Given the description of an element on the screen output the (x, y) to click on. 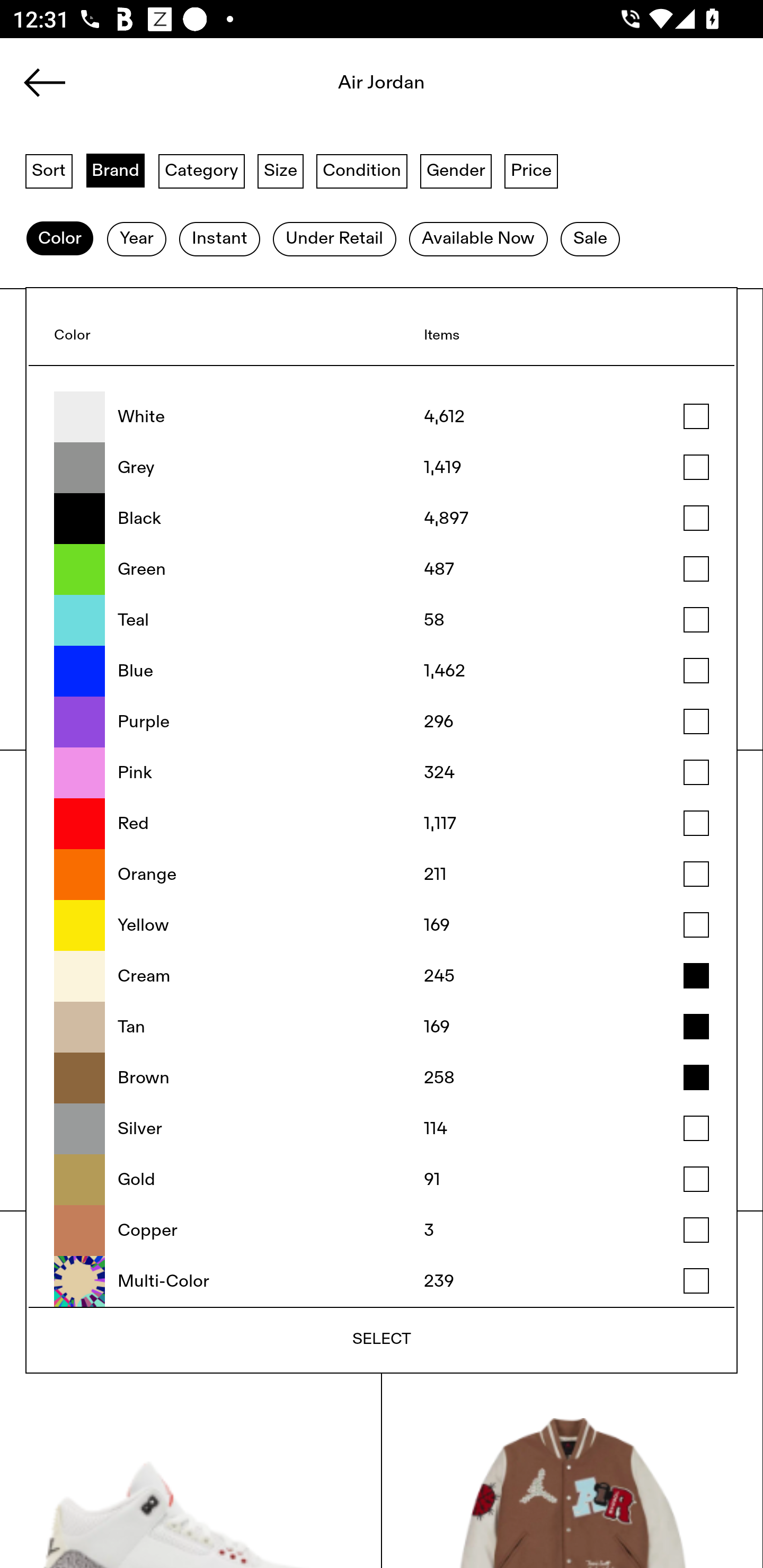
Sort (48, 170)
Brand (115, 170)
Category (201, 170)
Size (280, 170)
Condition (361, 170)
Gender (455, 170)
Price (530, 170)
Color (59, 239)
Year (136, 239)
Instant (219, 239)
Under Retail (334, 239)
Available Now (477, 239)
Sale (589, 239)
White 4,612 (381, 417)
Grey 1,419 (381, 467)
Black 4,897 (381, 518)
Green 487 (381, 569)
Teal 58 (381, 620)
Blue 1,462 (381, 671)
Purple 296 (381, 721)
Pink 324 (381, 772)
Red 1,117 (381, 823)
Orange 211 (381, 874)
Yellow 169 (381, 925)
Cream 245 (381, 975)
Tan 169 (381, 1026)
Brown 258 (381, 1077)
Silver 114 (381, 1128)
Gold 91 (381, 1179)
Copper 3 (381, 1230)
Multi-Color 239 (381, 1280)
SELECT (381, 1338)
